Given the description of an element on the screen output the (x, y) to click on. 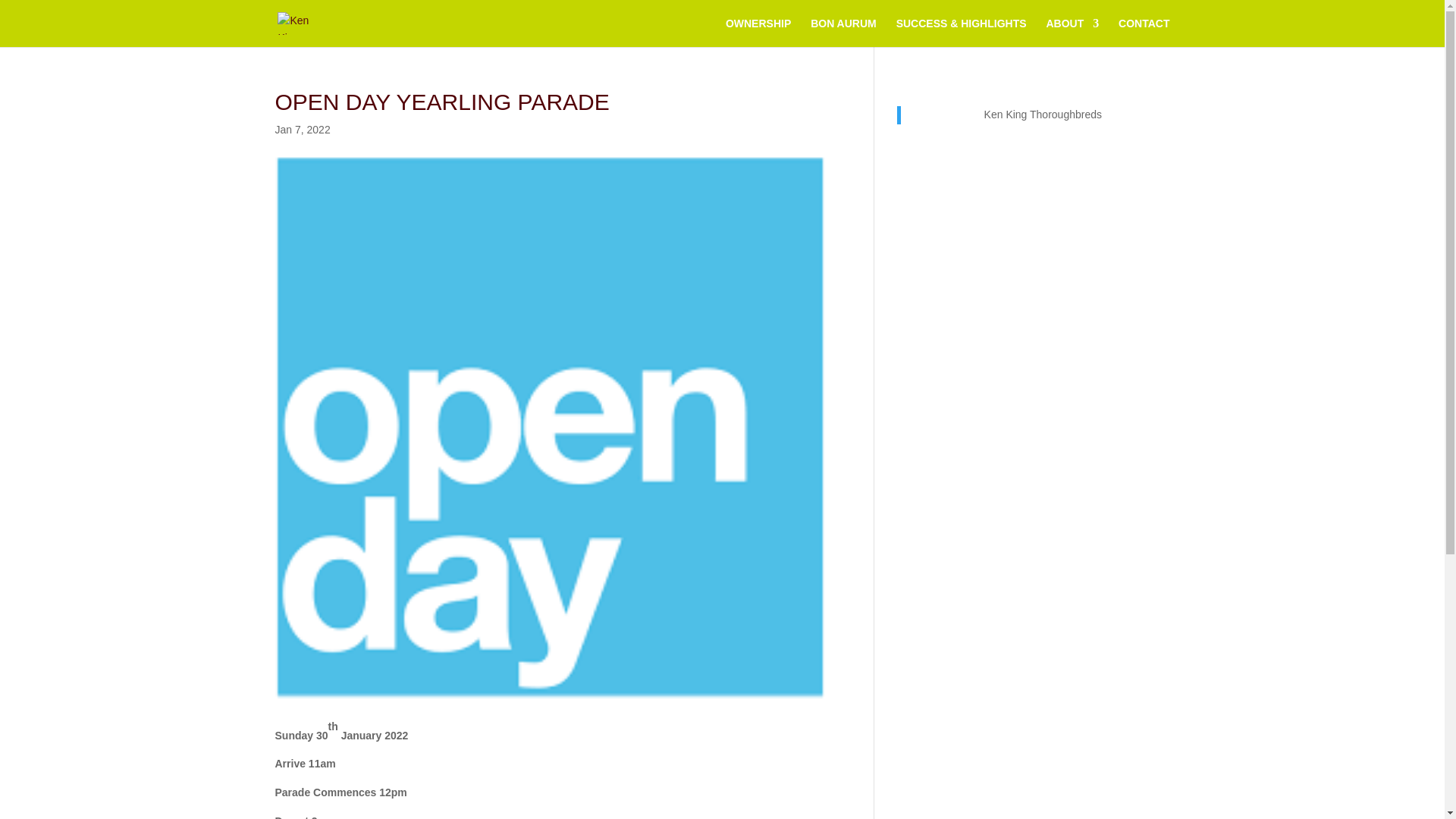
ABOUT (1072, 32)
BON AURUM (843, 32)
OWNERSHIP (757, 32)
Ken King Thoroughbreds (1043, 114)
CONTACT (1143, 32)
